Given the description of an element on the screen output the (x, y) to click on. 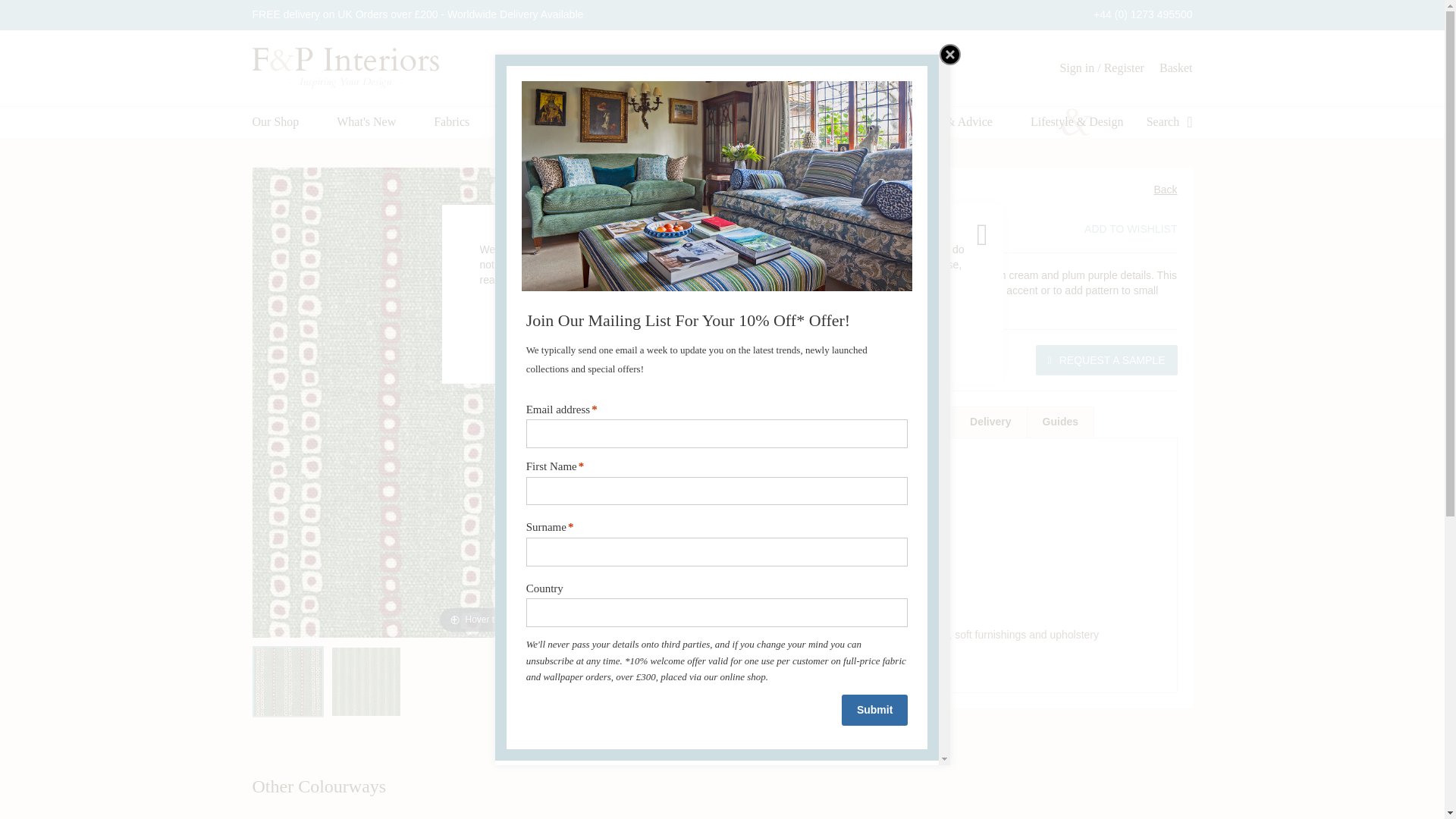
ACCEPT COOKIES (637, 328)
Our Shop (274, 122)
Go to Home Page (680, 152)
Cookie Policy (553, 279)
Fabrics (450, 122)
What's New (366, 122)
1 (800, 359)
Add to Basket (888, 359)
Qty (800, 359)
Cookie Policy (553, 279)
Basket (1175, 67)
CUSTOM SETTINGS (801, 328)
